Given the description of an element on the screen output the (x, y) to click on. 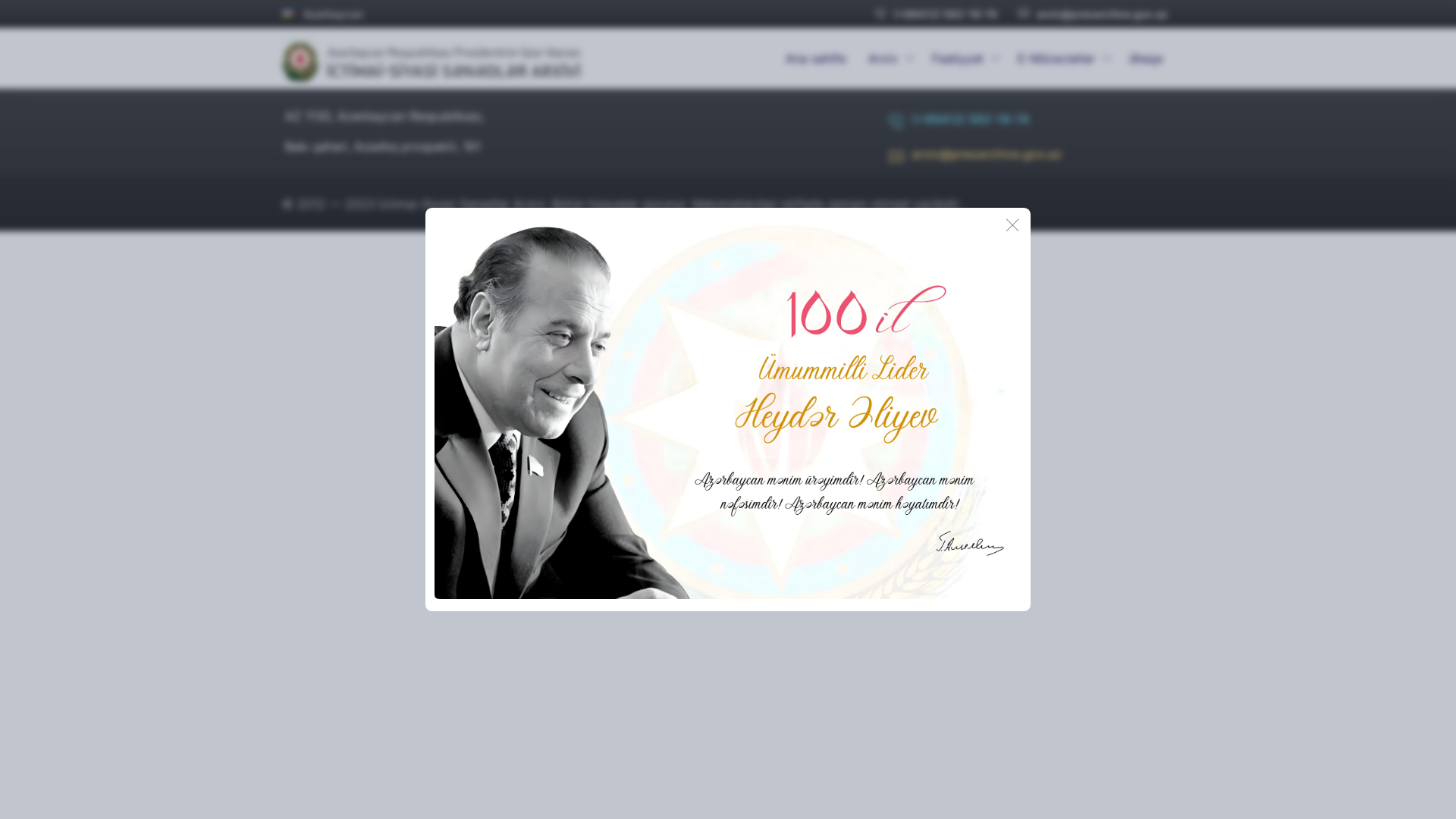
arxiv@presarchive.gov.az Element type: text (1092, 14)
(+99412) 562-18-74 Element type: text (958, 123)
Arxiv Element type: text (888, 58)
(+99412) 562-18-74 Element type: text (936, 14)
arxiv@presarchive.gov.az Element type: text (974, 158)
